Given the description of an element on the screen output the (x, y) to click on. 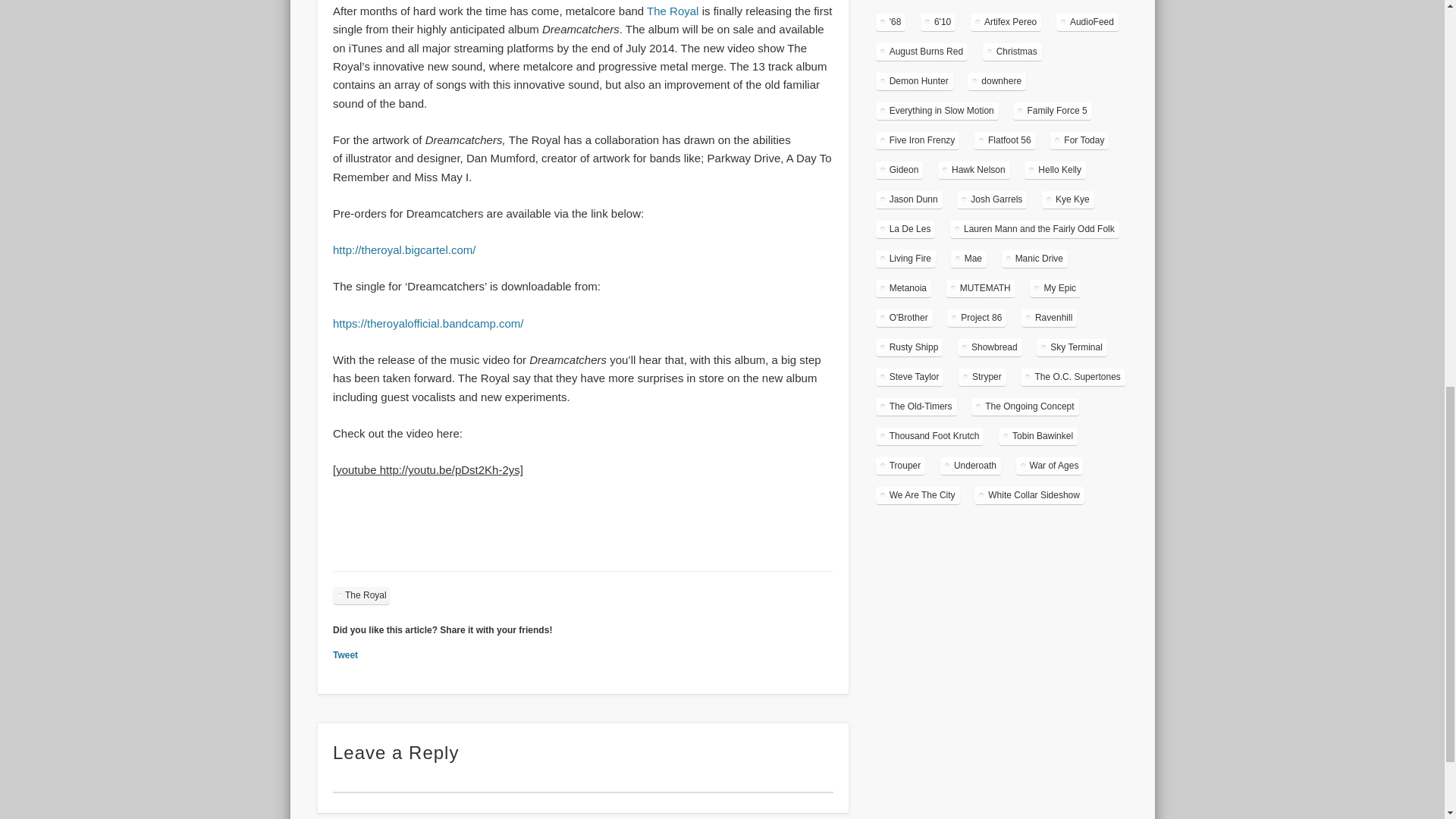
The Royal (673, 10)
August Burns Red (922, 51)
AudioFeed (1087, 22)
'68 (890, 22)
Tweet (345, 655)
Christmas (1012, 51)
Artifex Pereo (1006, 22)
The Royal (361, 595)
6'10 (937, 22)
